Given the description of an element on the screen output the (x, y) to click on. 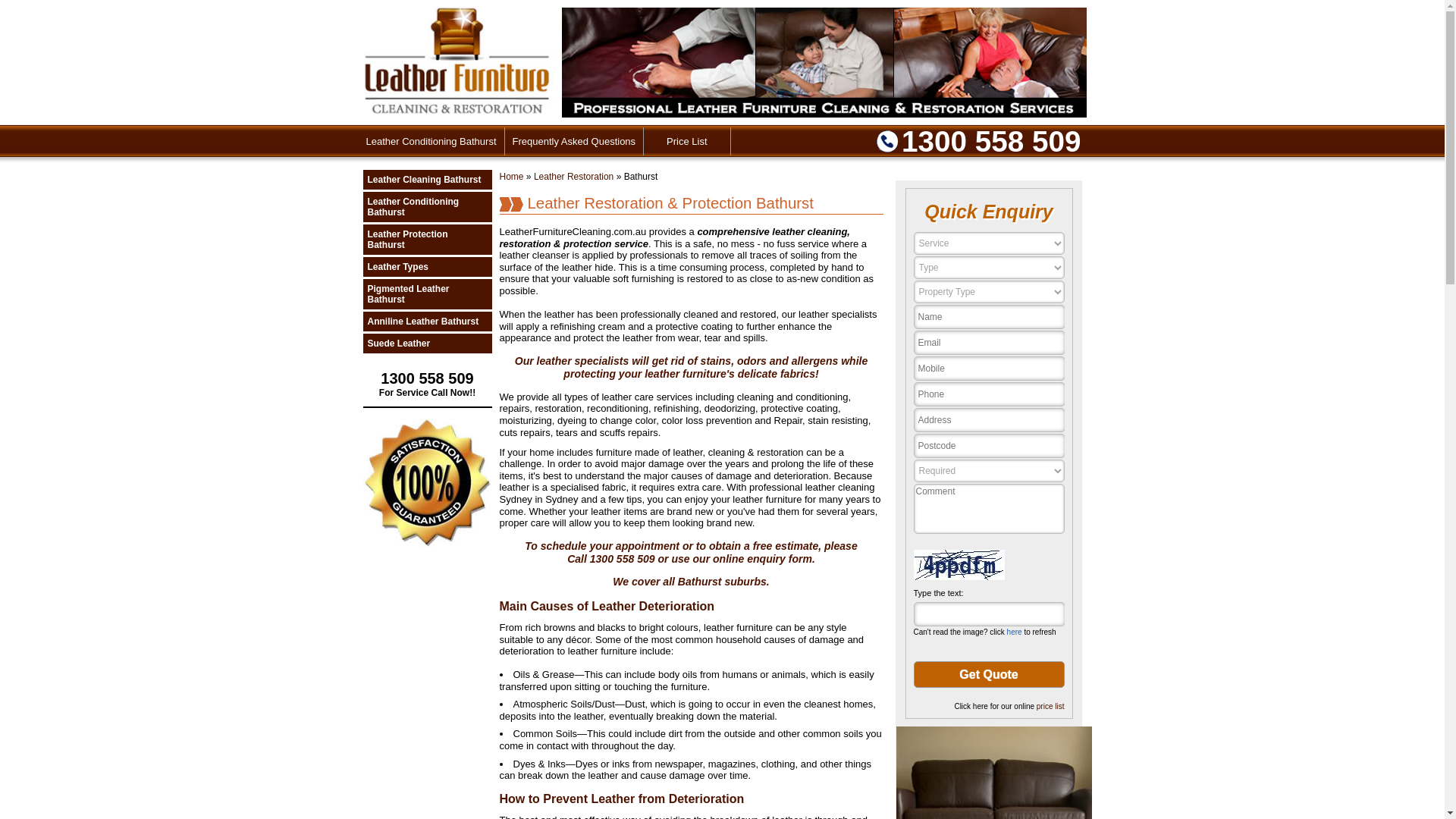
Frequently Asked Questions Element type: text (574, 141)
Leather Conditioning Bathurst Element type: text (430, 141)
Home Element type: text (510, 176)
LEATHER CLEANING BATHURST Element type: text (83, 20)
ANNILINE LEATHER BATHURST Element type: text (83, 201)
Suede Leather Element type: text (426, 343)
Anniline Leather Bathurst Element type: text (426, 321)
Leather Cleaning Bathurst Element type: text (426, 179)
price list Element type: text (1050, 706)
SUEDE NUBUCK LEATHER BATHURST Element type: text (83, 237)
LEATHER PROTECTION BATHURST Element type: text (83, 93)
Price List Element type: text (686, 141)
Get Quote Element type: text (988, 674)
Leather Restoration Element type: text (573, 176)
LEATHER TYPES BATHURST Element type: text (83, 129)
Leather Protection Bathurst Element type: text (426, 239)
LEATHER CONDITIONING BATHURST Element type: text (83, 57)
FREQUENTLY ASKED QUESTIONS Element type: text (83, 274)
here Element type: text (1014, 631)
PIGMENTED LEATHER BATHURST Element type: text (83, 165)
Pigmented Leather Bathurst Element type: text (426, 294)
Leather Conditioning Bathurst Element type: text (426, 206)
Leather Types Element type: text (426, 266)
